Given the description of an element on the screen output the (x, y) to click on. 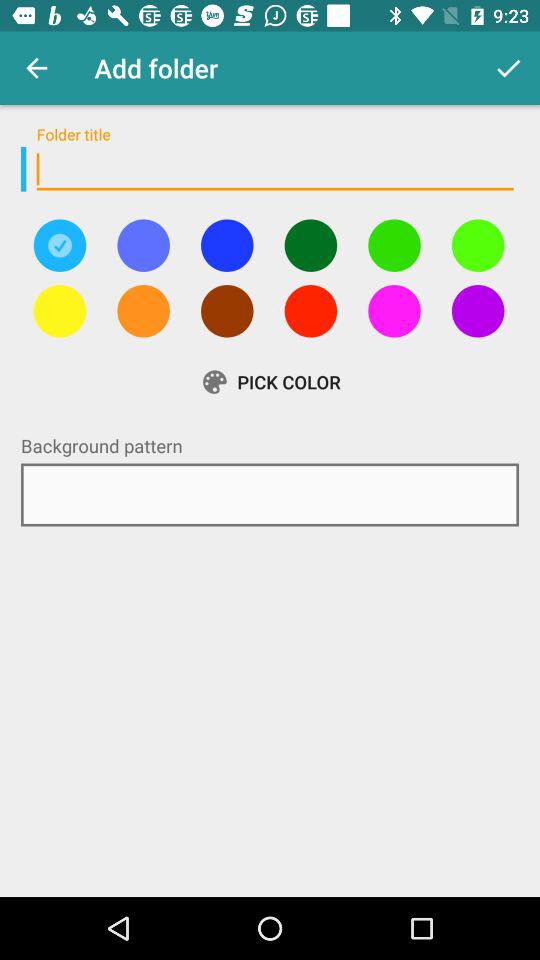
select this color (143, 245)
